Given the description of an element on the screen output the (x, y) to click on. 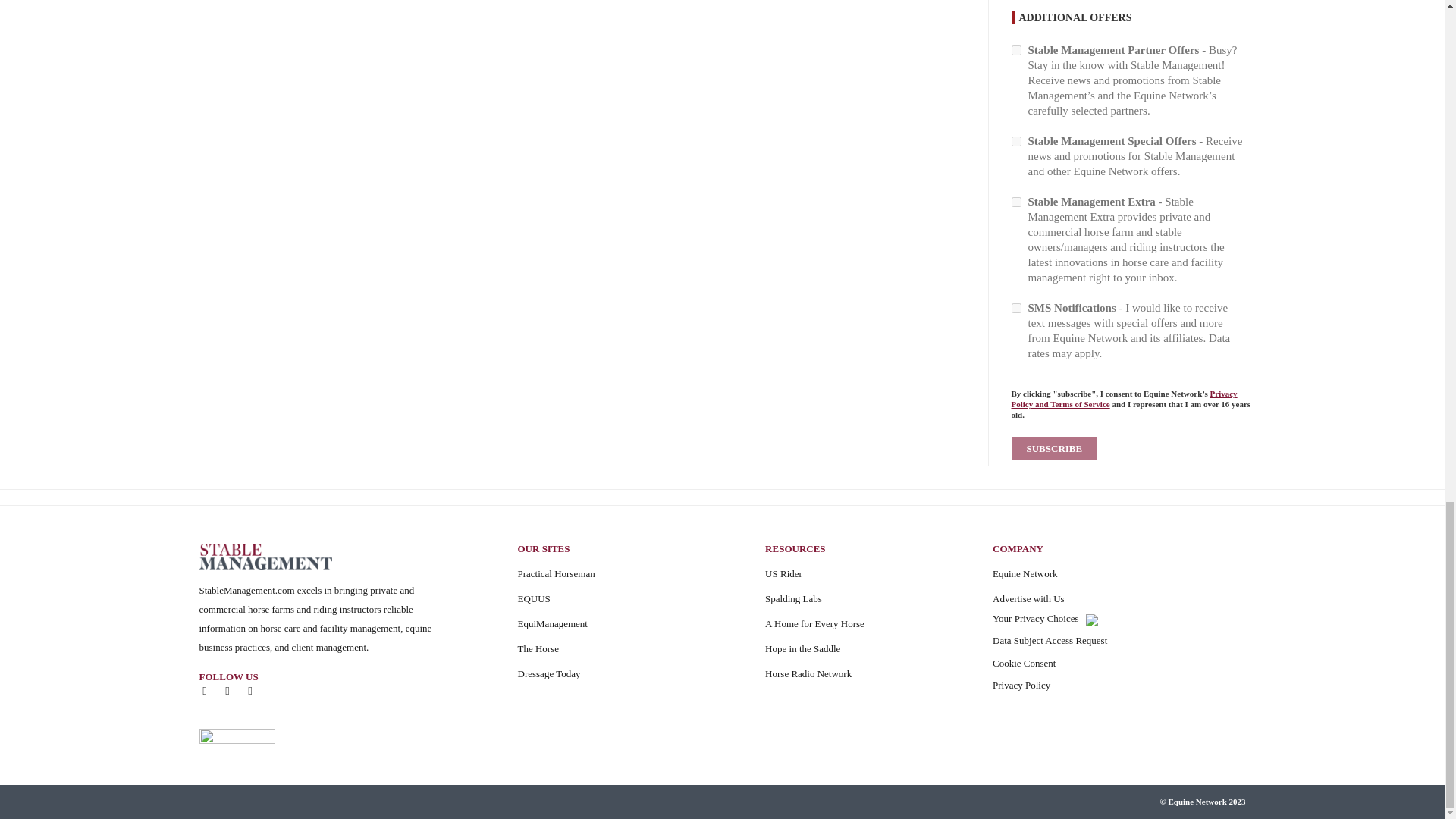
4abea021-0715-4258-8505-deecee9d4fc1 (1016, 141)
Subscribe (1054, 448)
e4e2edd8-40e7-4528-9fc3-6664a65b9fb2 (1016, 50)
SMS Notifications (1016, 307)
7d0c6f1d-69c5-4522-93be-35477d857179 (1016, 202)
